Given the description of an element on the screen output the (x, y) to click on. 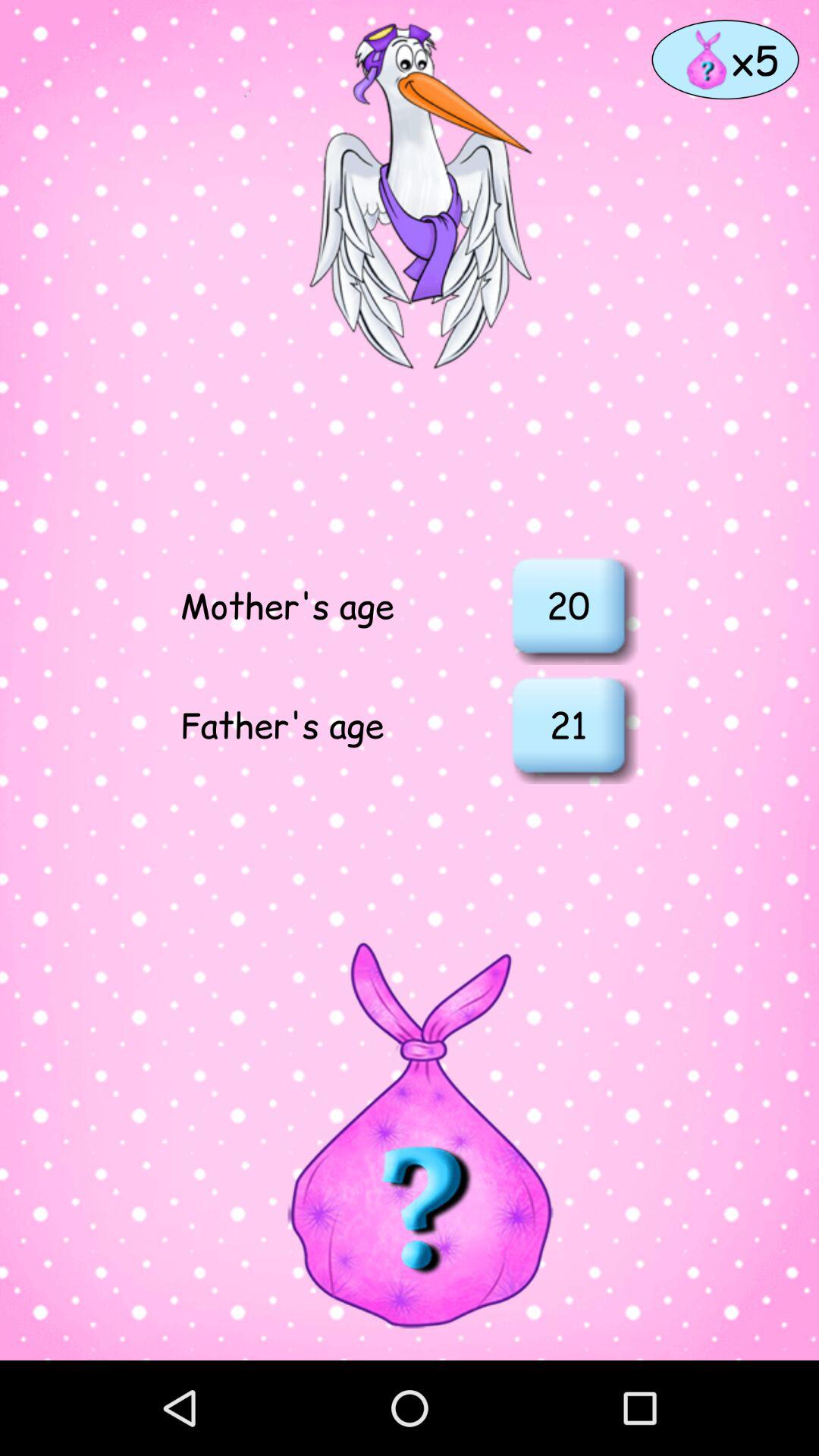
select the icon to the right of father's age (568, 724)
